Given the description of an element on the screen output the (x, y) to click on. 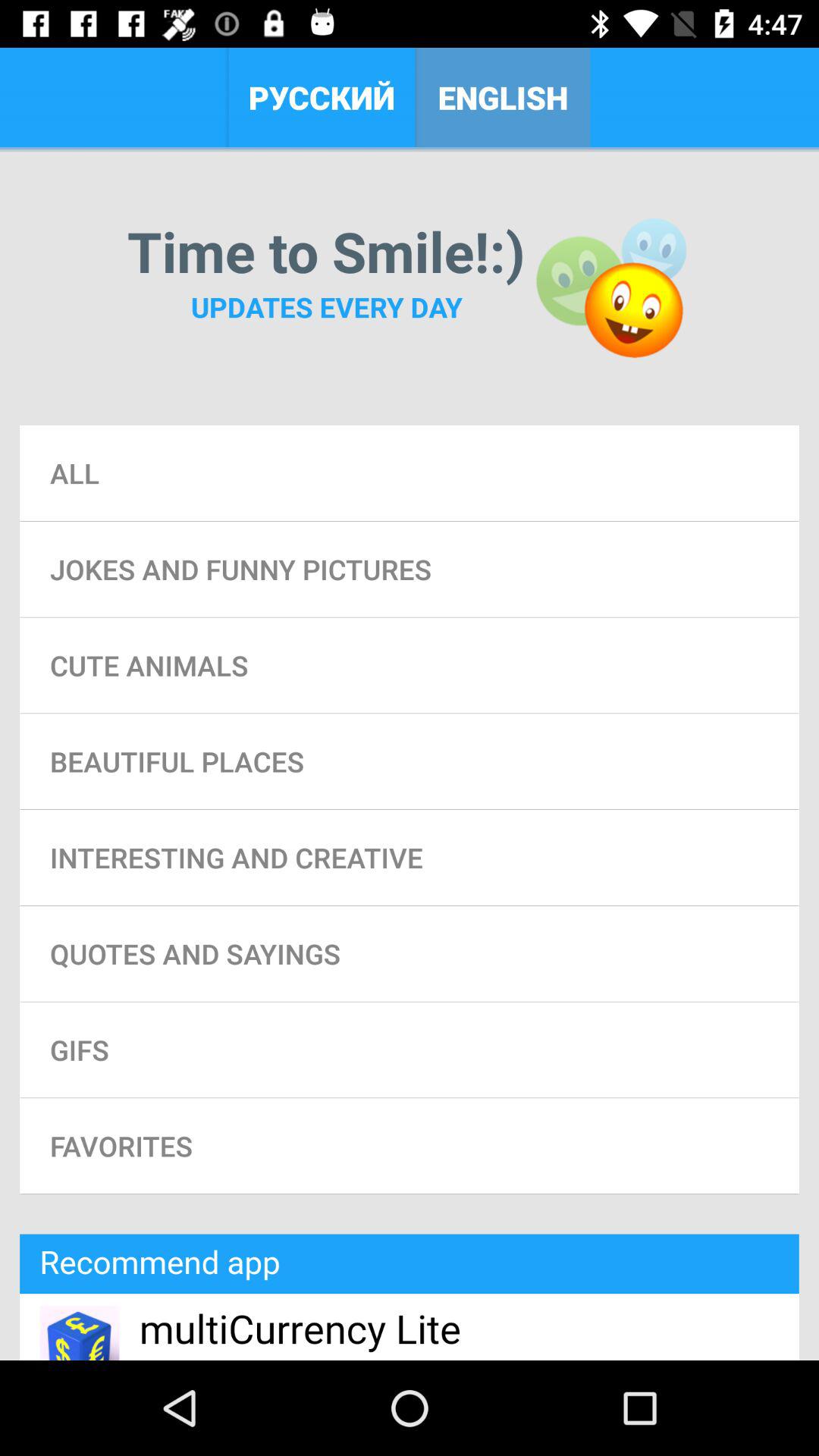
select item below the cute animals item (409, 761)
